Given the description of an element on the screen output the (x, y) to click on. 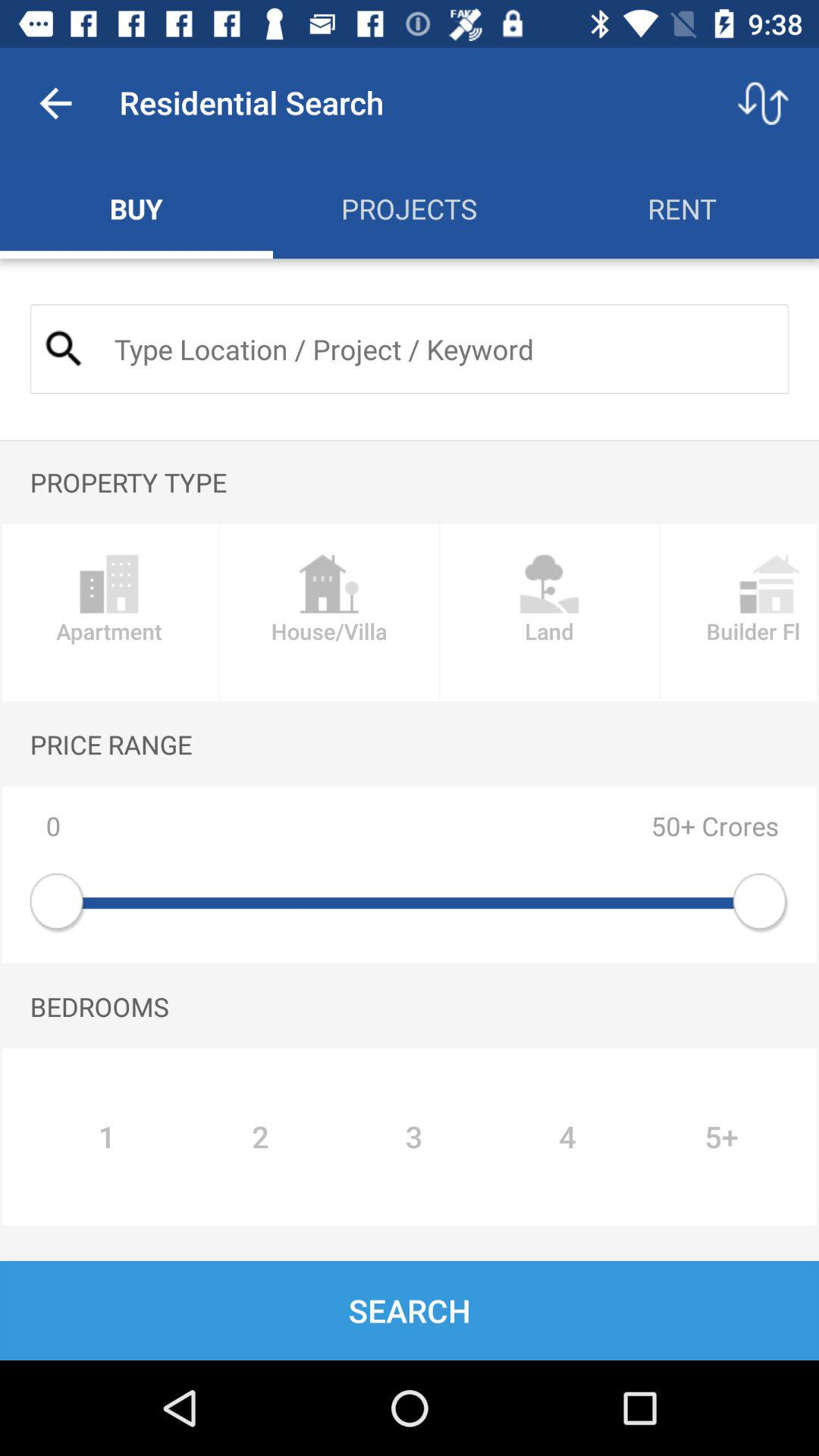
enter location or project name (438, 349)
